Given the description of an element on the screen output the (x, y) to click on. 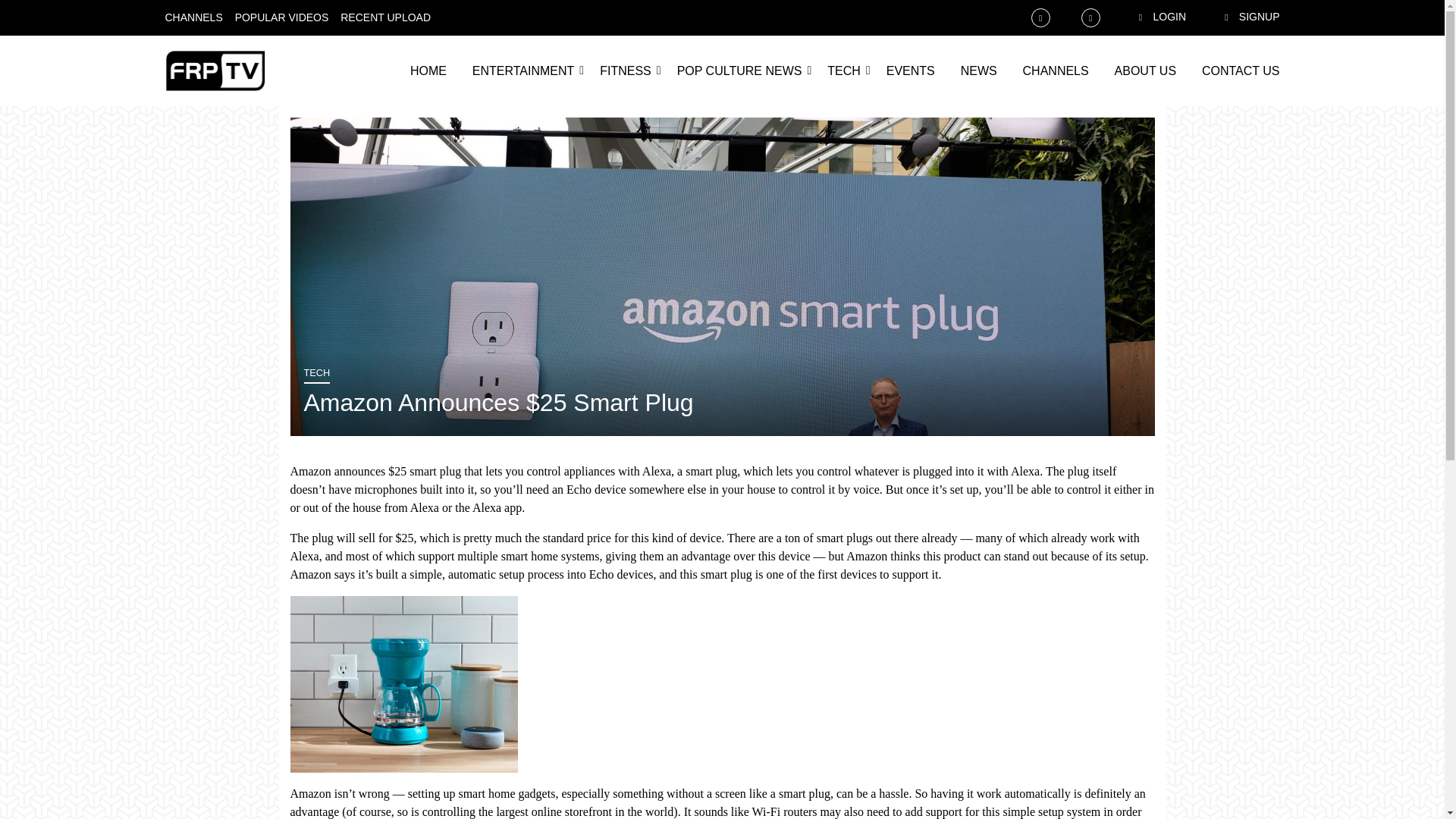
CHANNELS (1056, 70)
POP CULTURE NEWS (739, 70)
RECENT UPLOAD (385, 17)
POPULAR VIDEOS (281, 17)
CHANNELS (193, 17)
SIGNUP (1238, 16)
ABOUT US (1145, 70)
ENTERTAINMENT (523, 70)
LOGIN (1149, 16)
CONTACT US (1240, 70)
